Given the description of an element on the screen output the (x, y) to click on. 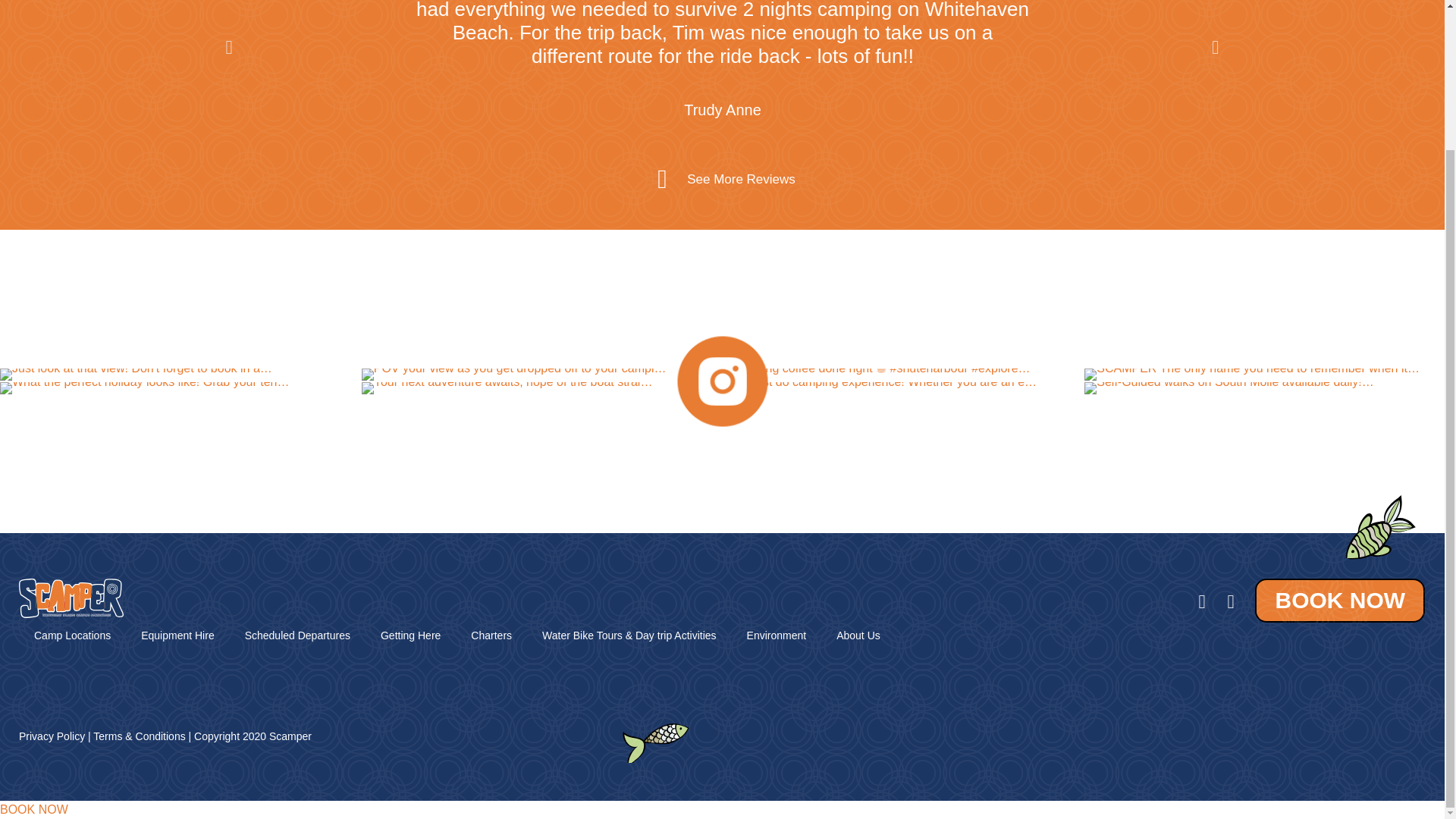
Charters (491, 635)
Equipment Hire (177, 635)
Scheduled Departures (297, 635)
Camp Locations (71, 635)
See More Reviews (740, 178)
Getting Here (410, 635)
Environment (777, 635)
About Us (858, 635)
